Given the description of an element on the screen output the (x, y) to click on. 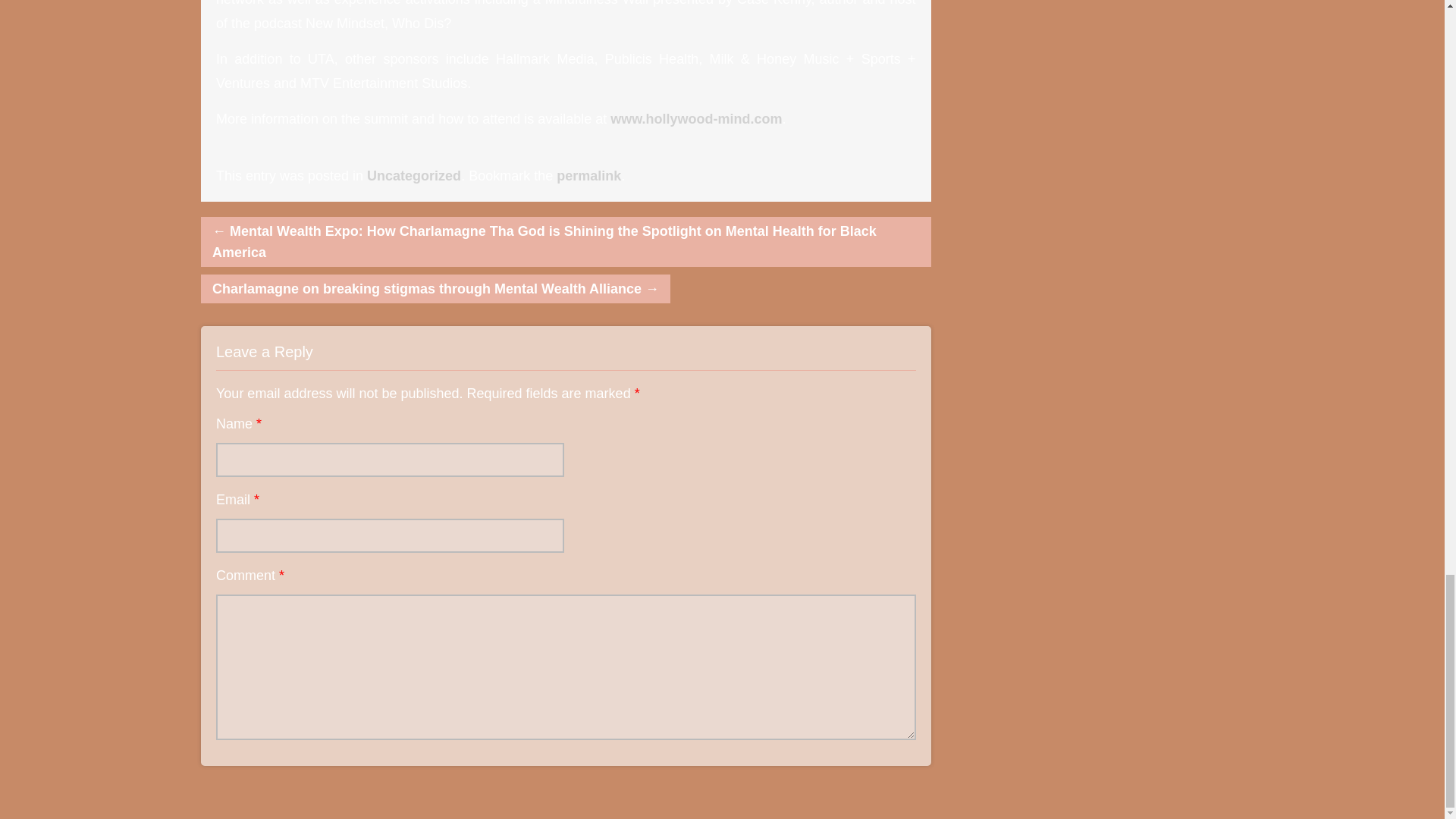
Uncategorized (413, 175)
permalink (588, 175)
www.hollywood-mind.com (695, 118)
